Given the description of an element on the screen output the (x, y) to click on. 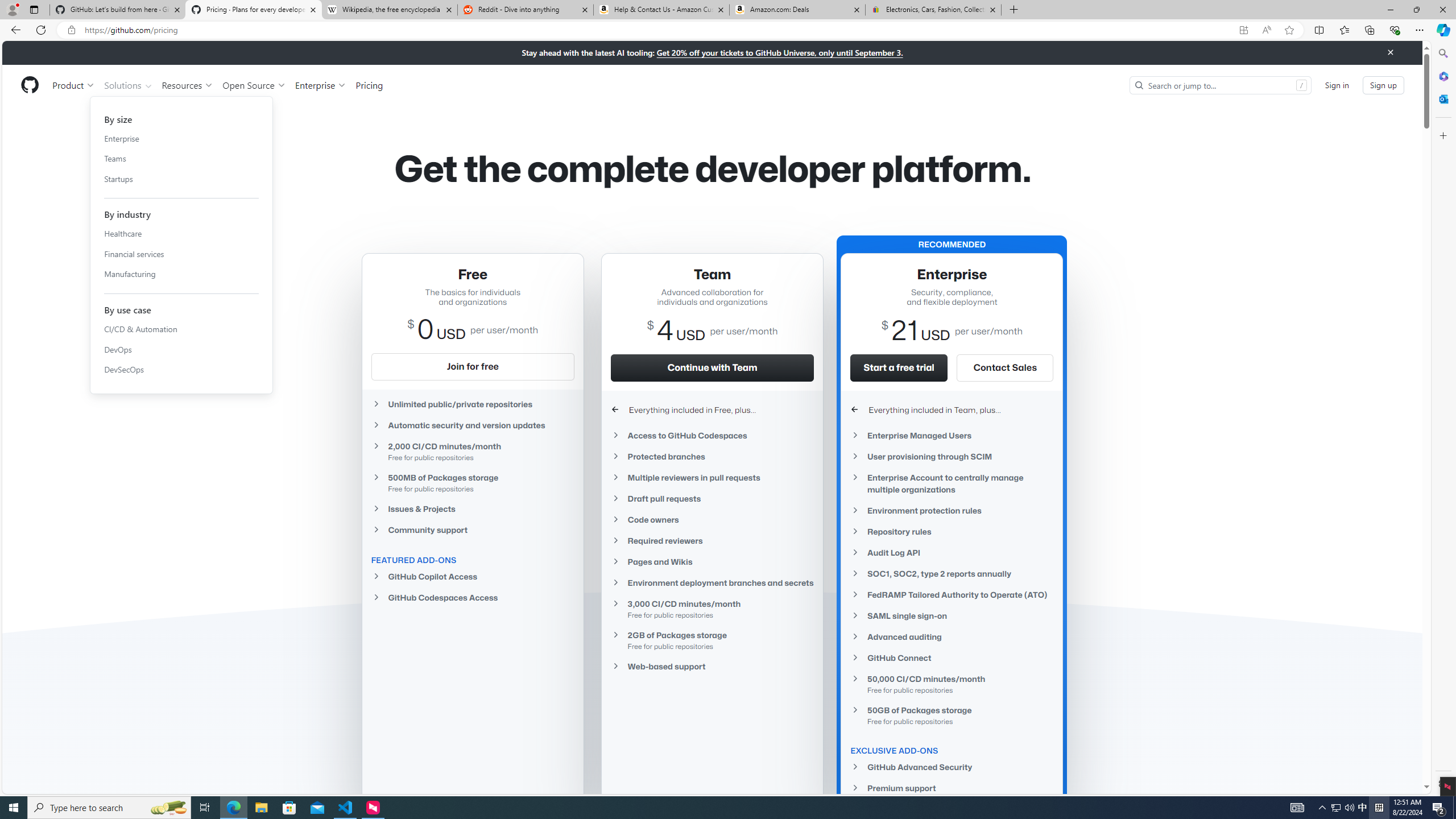
2GB of Packages storageFree for public repositories (711, 640)
Web-based support (711, 666)
Advanced auditing (952, 636)
GitHub Codespaces Access (473, 597)
Product (74, 84)
GitHub Advanced Security (952, 767)
